Given the description of an element on the screen output the (x, y) to click on. 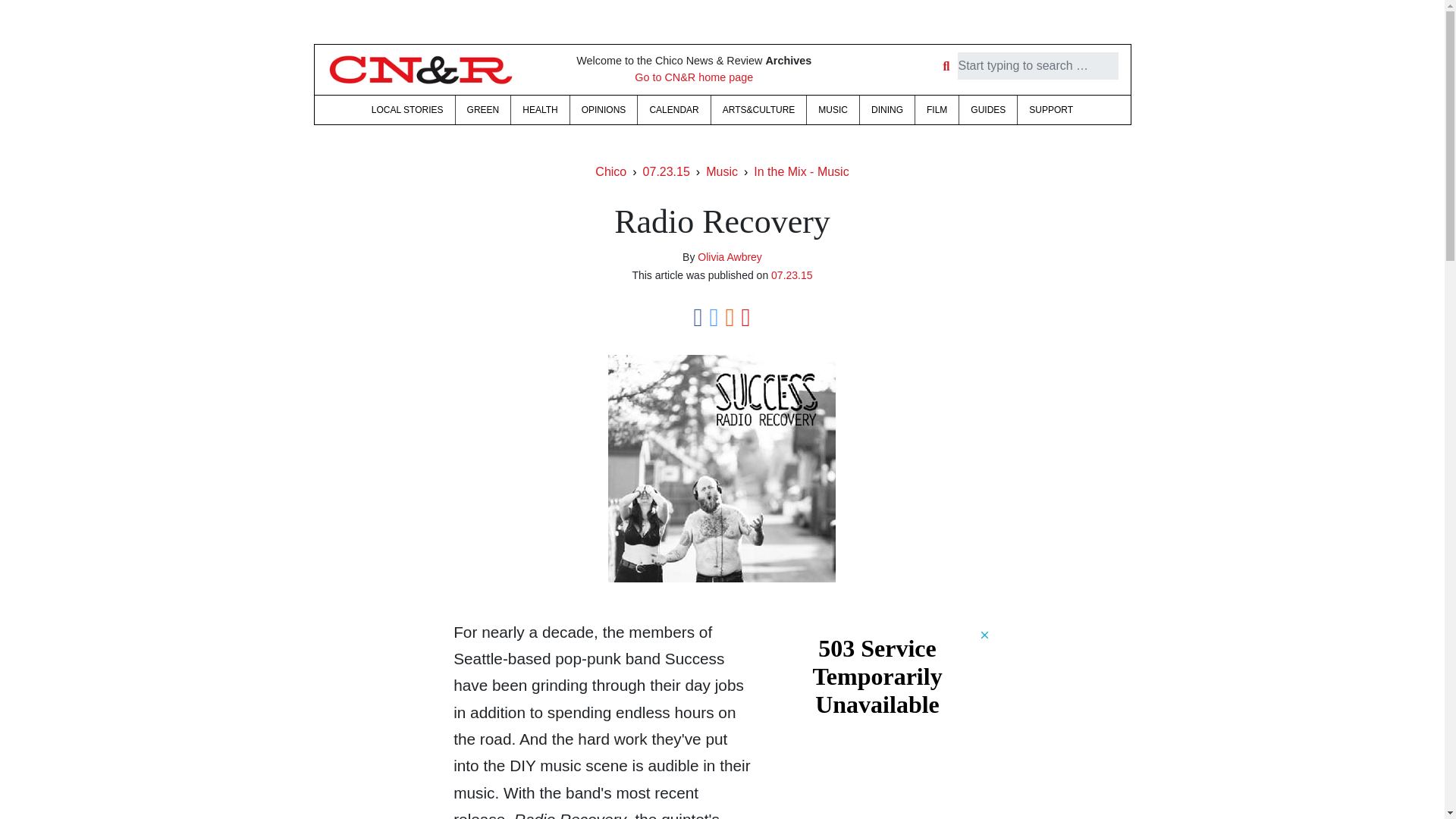
07.23.15 (666, 171)
Olivia Awbrey (729, 256)
GUIDES (987, 109)
GREEN (483, 109)
SUPPORT (1050, 109)
LOCAL STORIES (406, 109)
CALENDAR (673, 109)
07.23.15 (791, 275)
HEALTH (540, 109)
Music (722, 171)
FILM (936, 109)
OPINIONS (603, 109)
In the Mix - Music (801, 171)
3rd party ad content (876, 723)
MUSIC (832, 109)
